Given the description of an element on the screen output the (x, y) to click on. 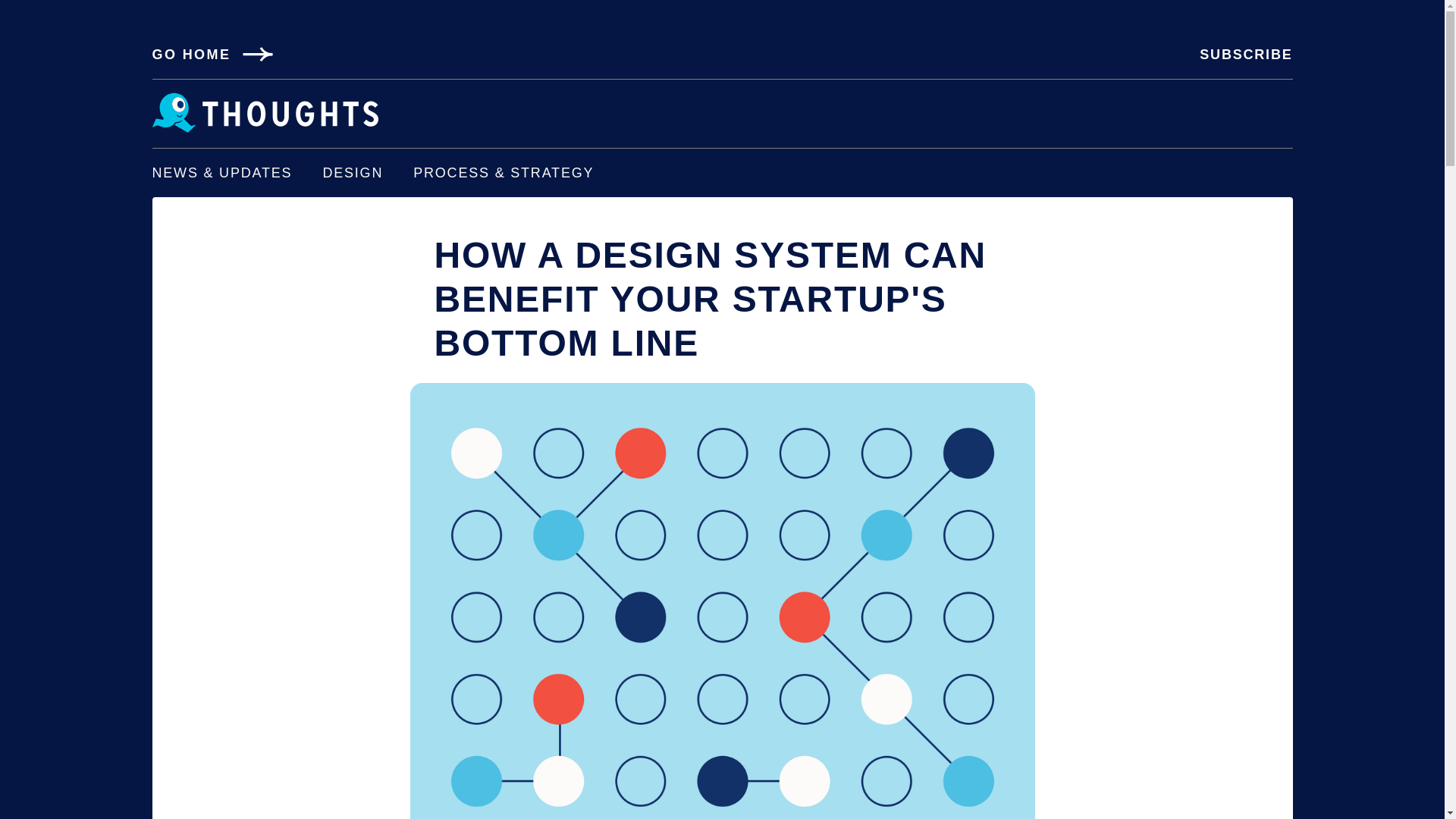
SUBSCRIBE (1245, 54)
DESIGN (351, 172)
GO HOME (212, 54)
